Given the description of an element on the screen output the (x, y) to click on. 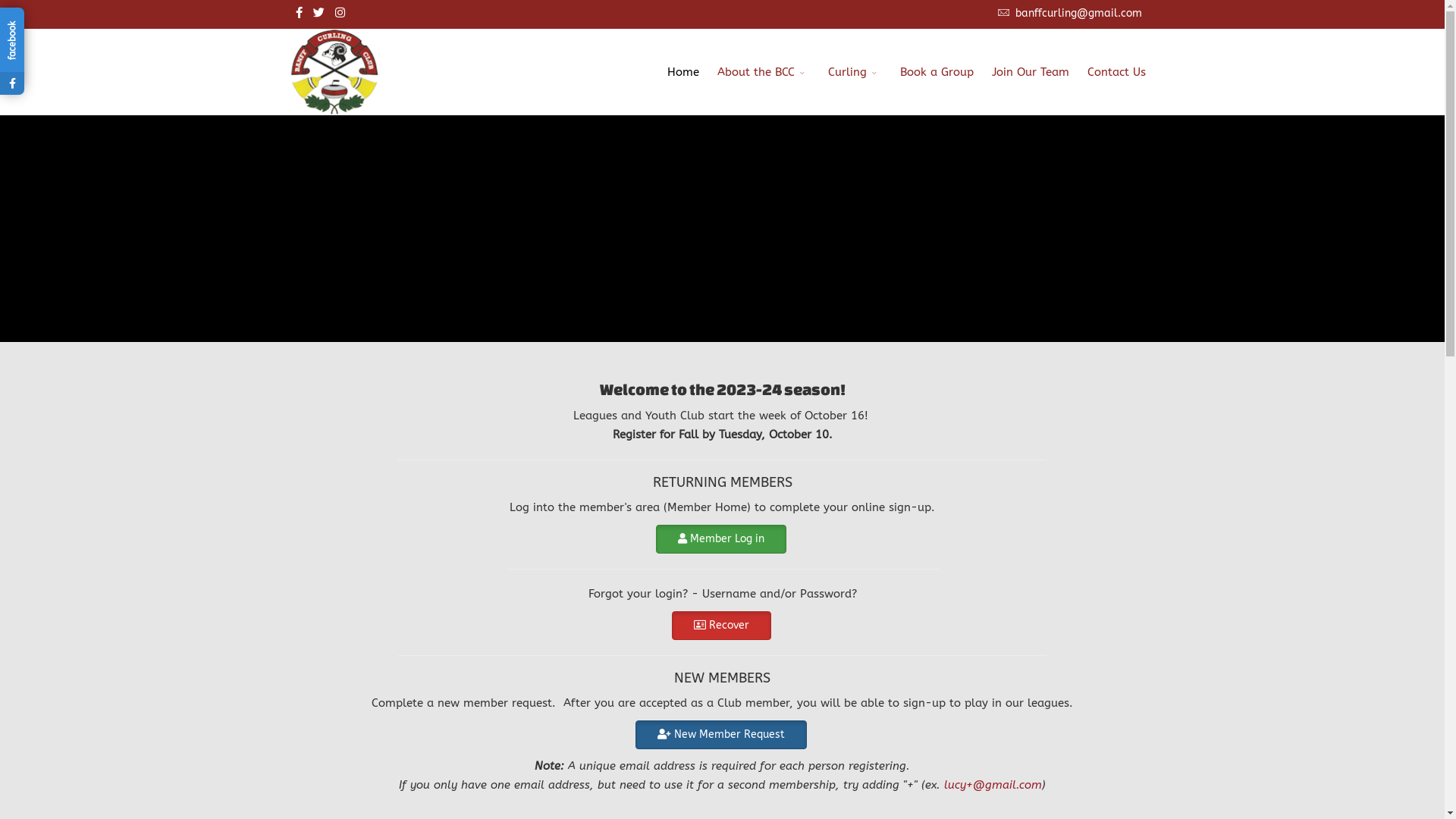
Book a Group Element type: text (936, 71)
banffcurling@gmail.com Element type: text (1077, 13)
Join Our Team Element type: text (1030, 71)
Home Element type: text (683, 71)
Contact Us Element type: text (1116, 71)
lucy+@gmail.com Element type: text (992, 784)
 Recover Element type: text (721, 625)
Curling Element type: text (855, 71)
About the BCC Element type: text (763, 71)
 Member Log in Element type: text (720, 538)
 New Member Request Element type: text (720, 734)
